Given the description of an element on the screen output the (x, y) to click on. 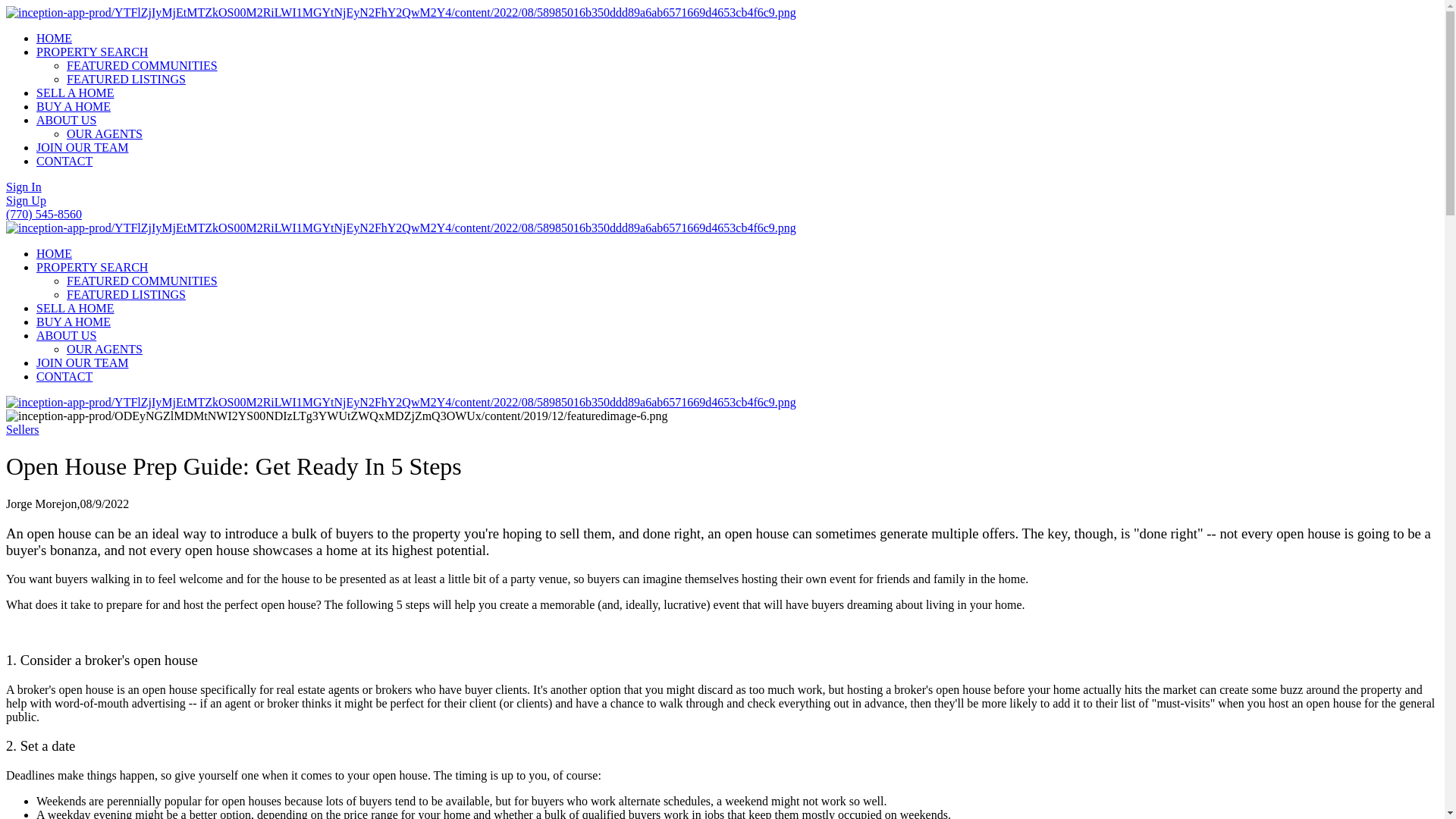
HOME (53, 38)
PROPERTY SEARCH (92, 267)
JOIN OUR TEAM (82, 362)
FEATURED COMMUNITIES (141, 65)
PROPERTY SEARCH (92, 51)
OUR AGENTS (104, 349)
FEATURED COMMUNITIES (141, 280)
Homepage (400, 227)
CONTACT (64, 160)
FEATURED LISTINGS (126, 78)
FEATURED LISTINGS (126, 78)
FEATURED LISTINGS (126, 294)
ABOUT US (66, 119)
Homepage (400, 11)
CONTACT (64, 160)
